Given the description of an element on the screen output the (x, y) to click on. 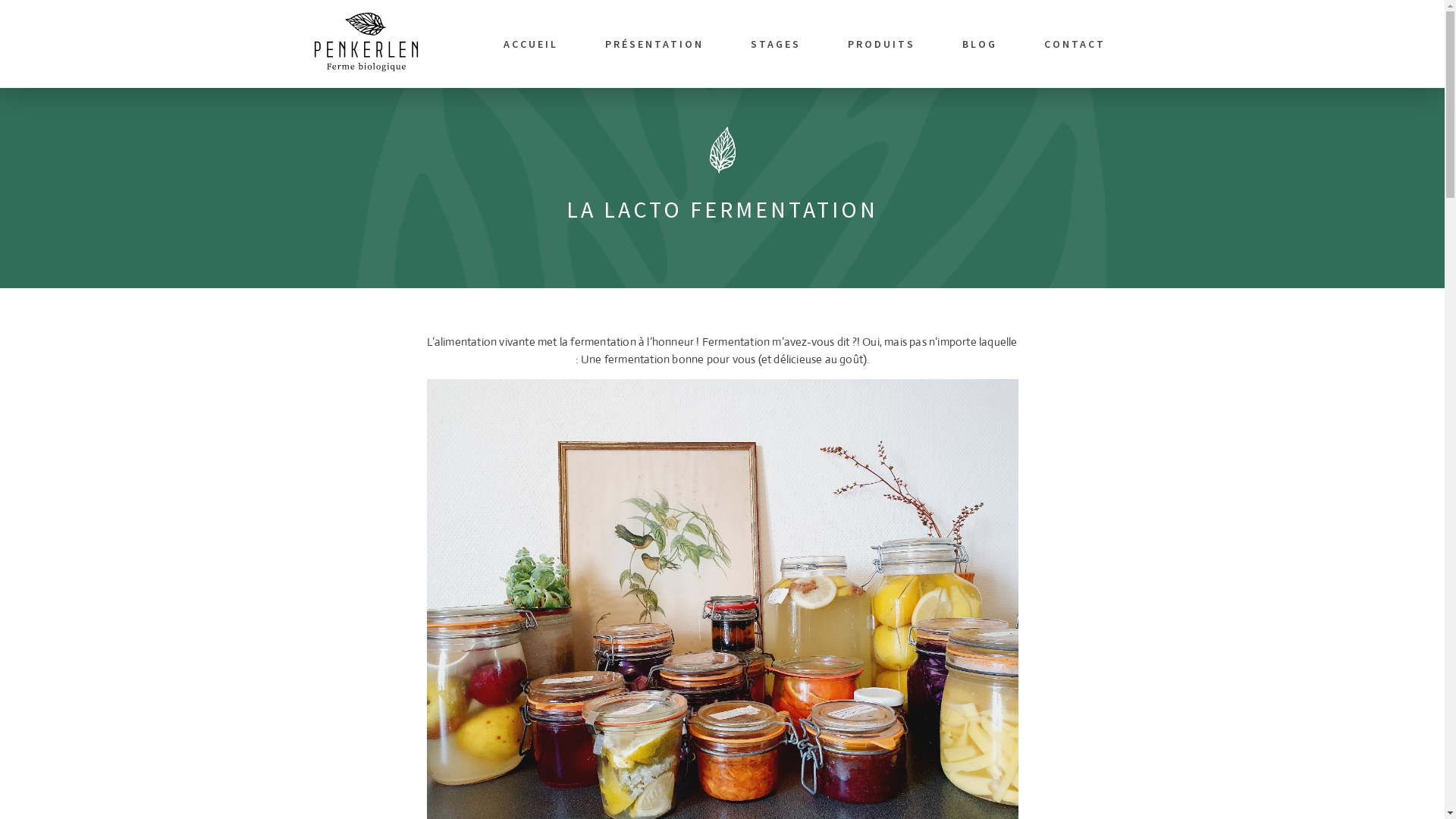
PRODUITS Element type: text (881, 43)
BLOG Element type: text (979, 43)
STAGES Element type: text (775, 43)
ACCUEIL Element type: text (529, 43)
CONTACT Element type: text (1074, 43)
